Given the description of an element on the screen output the (x, y) to click on. 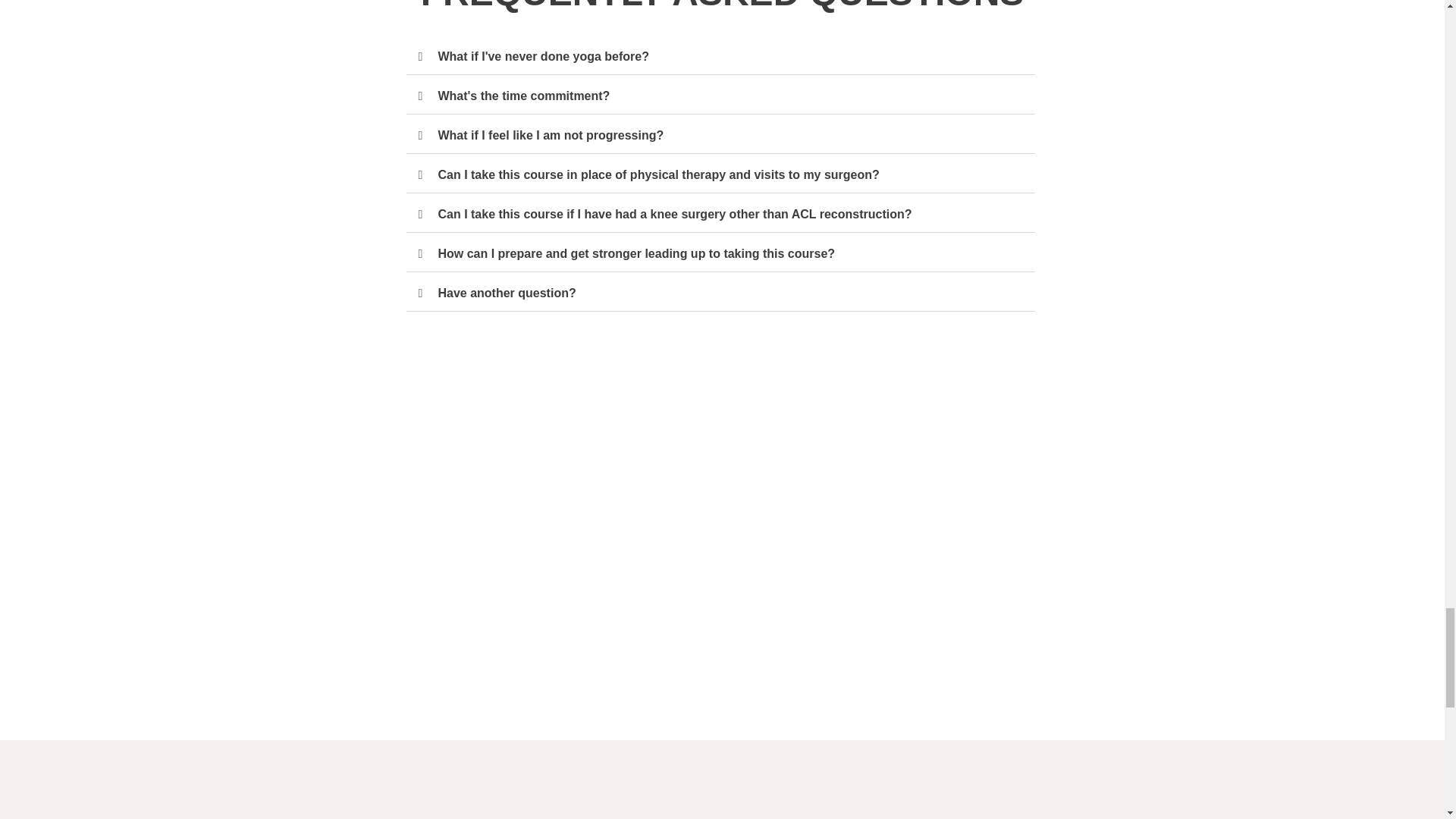
Have another question? (506, 292)
What if I feel like I am not progressing? (550, 134)
What if I've never done yoga before? (543, 56)
What's the time commitment? (524, 95)
